Given the description of an element on the screen output the (x, y) to click on. 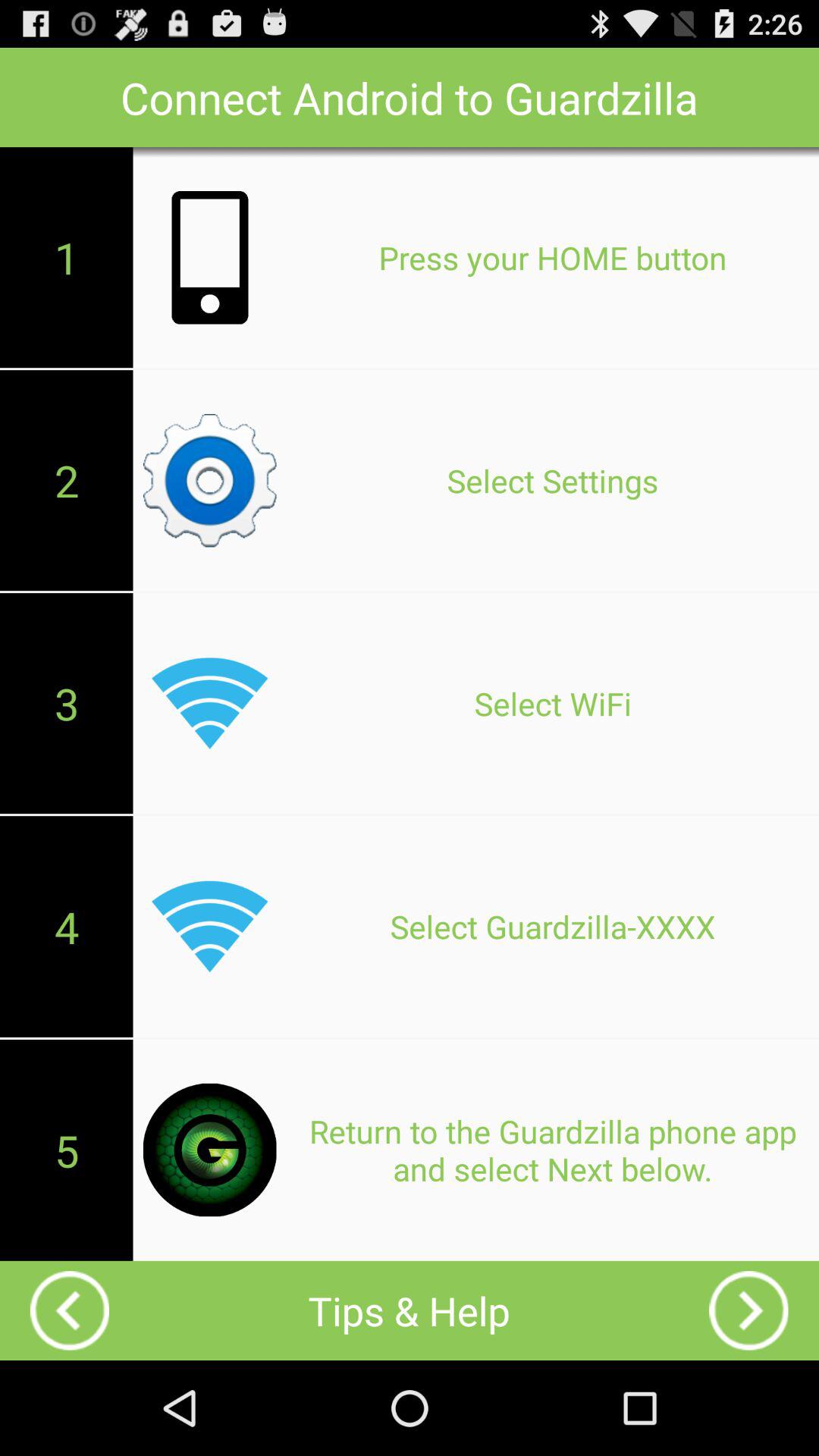
go to next page (748, 1310)
